Given the description of an element on the screen output the (x, y) to click on. 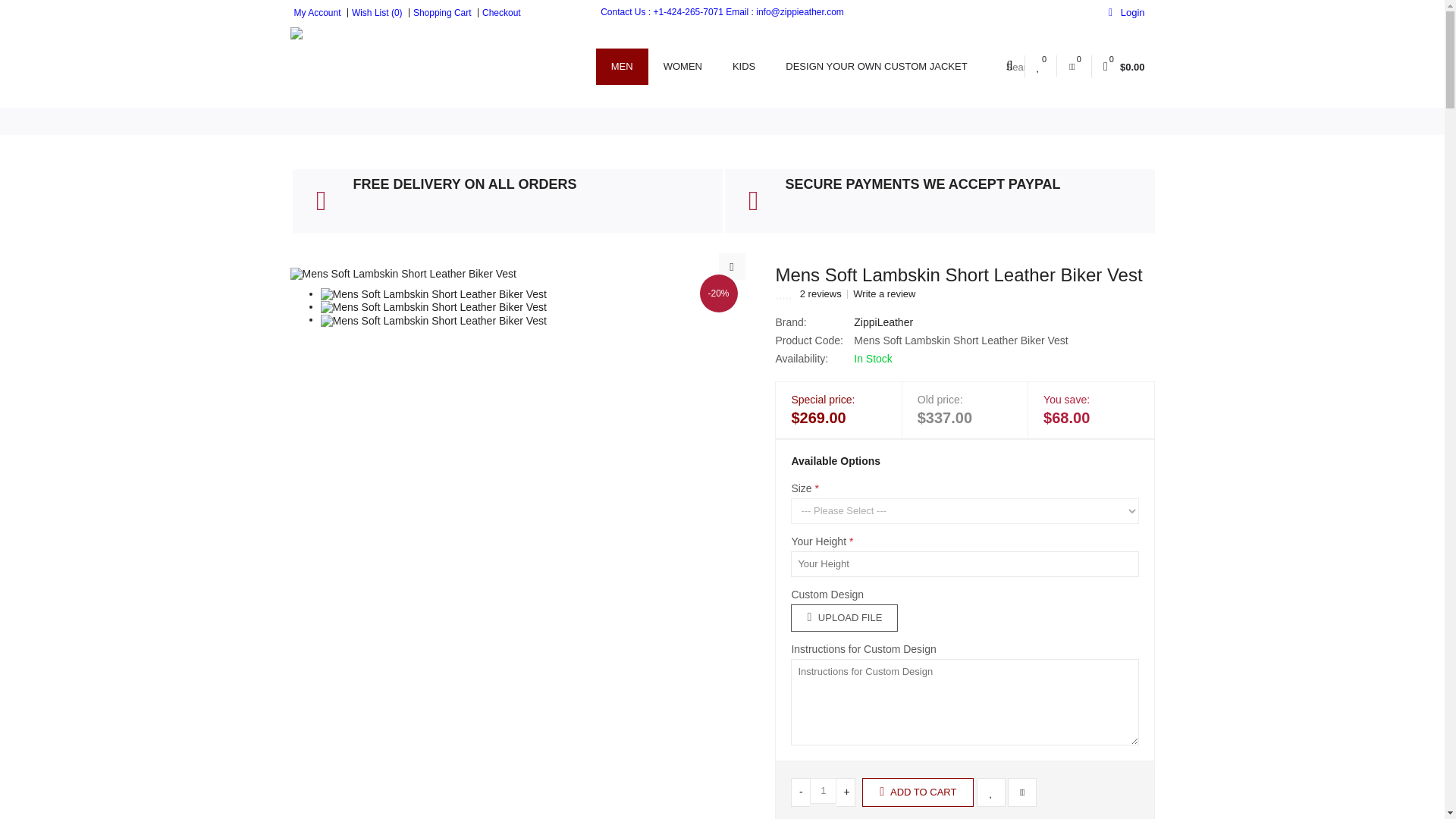
MEN (621, 66)
Mens Soft Lambskin Short Leather Biker Vest (433, 318)
Login (1126, 12)
Mens Soft Lambskin Short Leather Biker Vest (402, 272)
Mens Soft Lambskin Short Leather Biker Vest (402, 273)
Mens Soft Lambskin Short Leather Biker Vest (433, 294)
My Account (314, 12)
Mens Soft Lambskin Short Leather Biker Vest (433, 306)
Mens Soft Lambskin Short Leather Biker Vest (732, 266)
Mens Soft Lambskin Short Leather Biker Vest (433, 320)
